Given the description of an element on the screen output the (x, y) to click on. 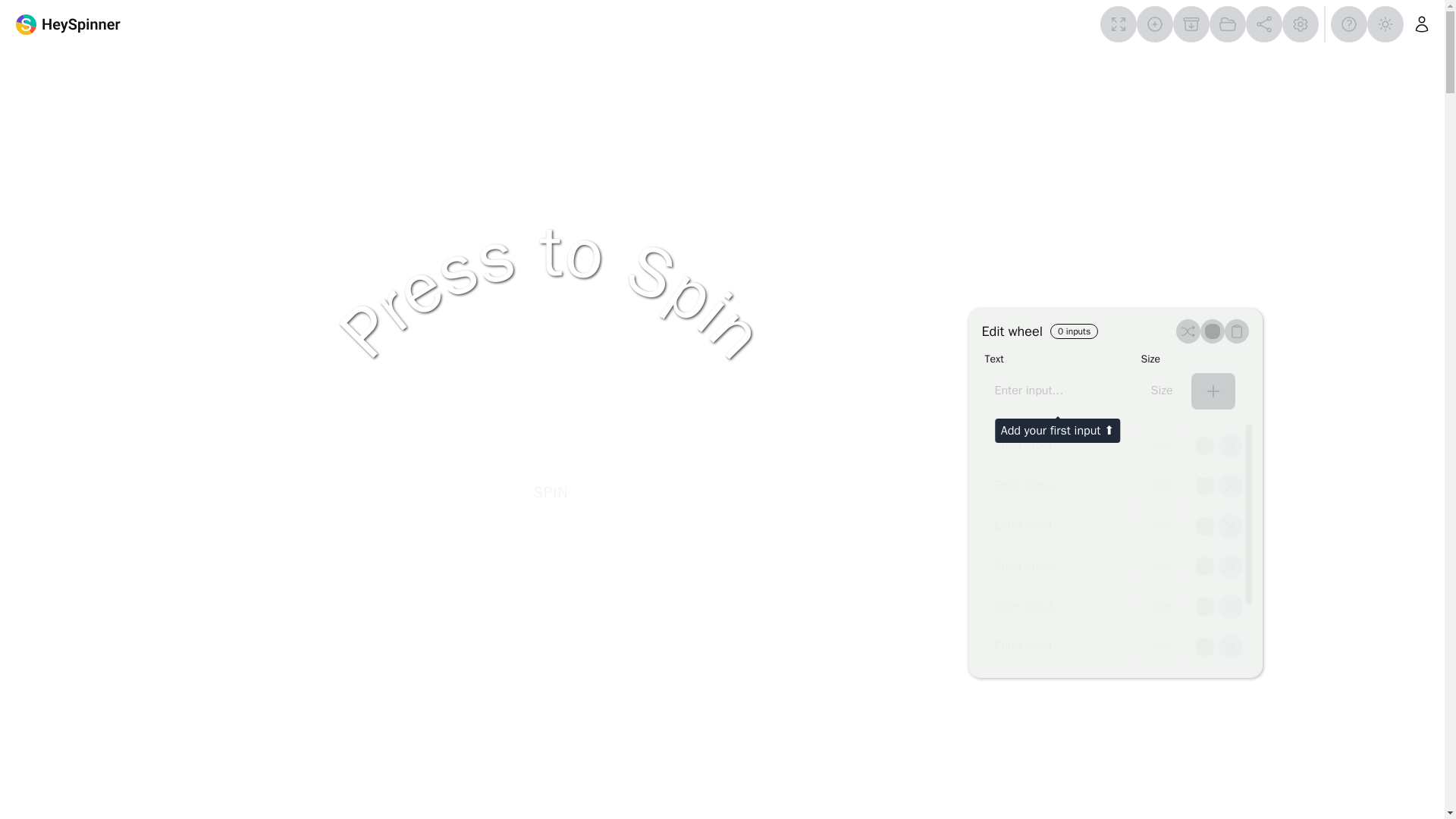
true (1212, 330)
on (1203, 565)
Edit wheel (1011, 331)
on (1203, 445)
Advertisement (722, 88)
on (1203, 525)
on (1203, 606)
on (1203, 484)
